Given the description of an element on the screen output the (x, y) to click on. 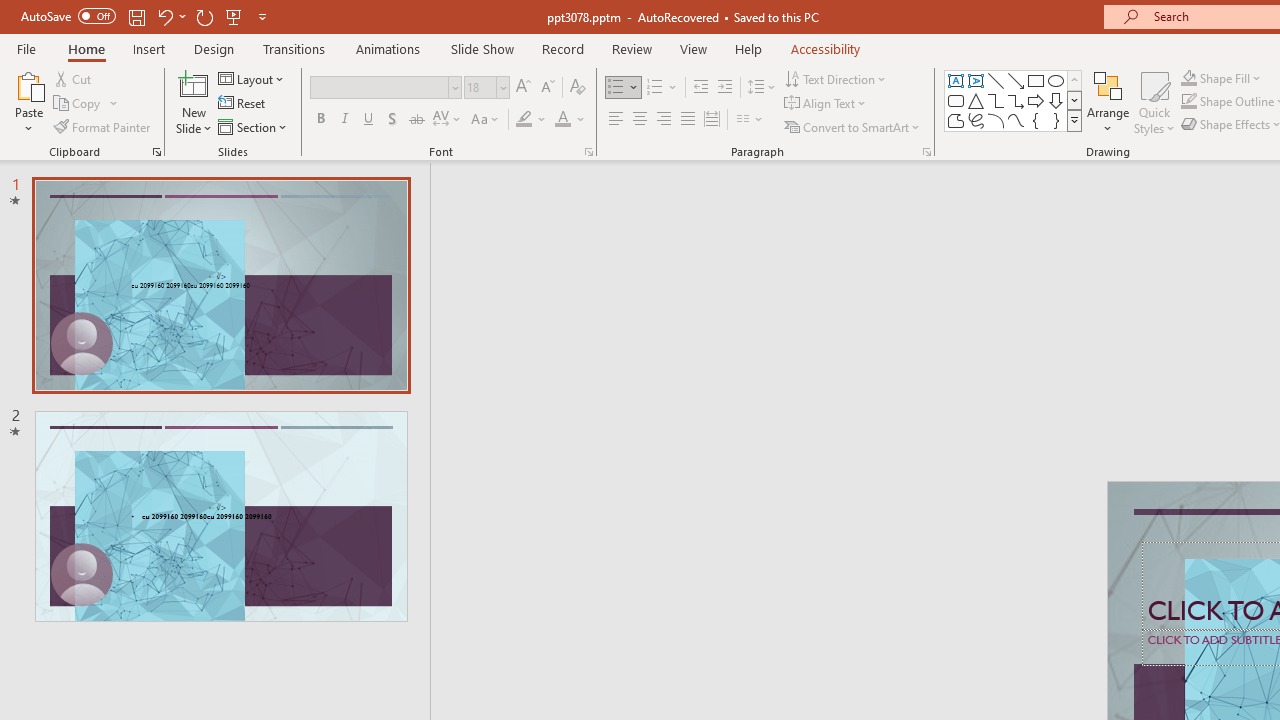
Change Case (486, 119)
Format Painter (103, 126)
Quick Styles (1154, 102)
Freeform: Scribble (975, 120)
Shape Outline Green, Accent 1 (1188, 101)
Font Size (480, 87)
Section (254, 126)
Align Text (826, 103)
Freeform: Shape (955, 120)
Justify (687, 119)
